Given the description of an element on the screen output the (x, y) to click on. 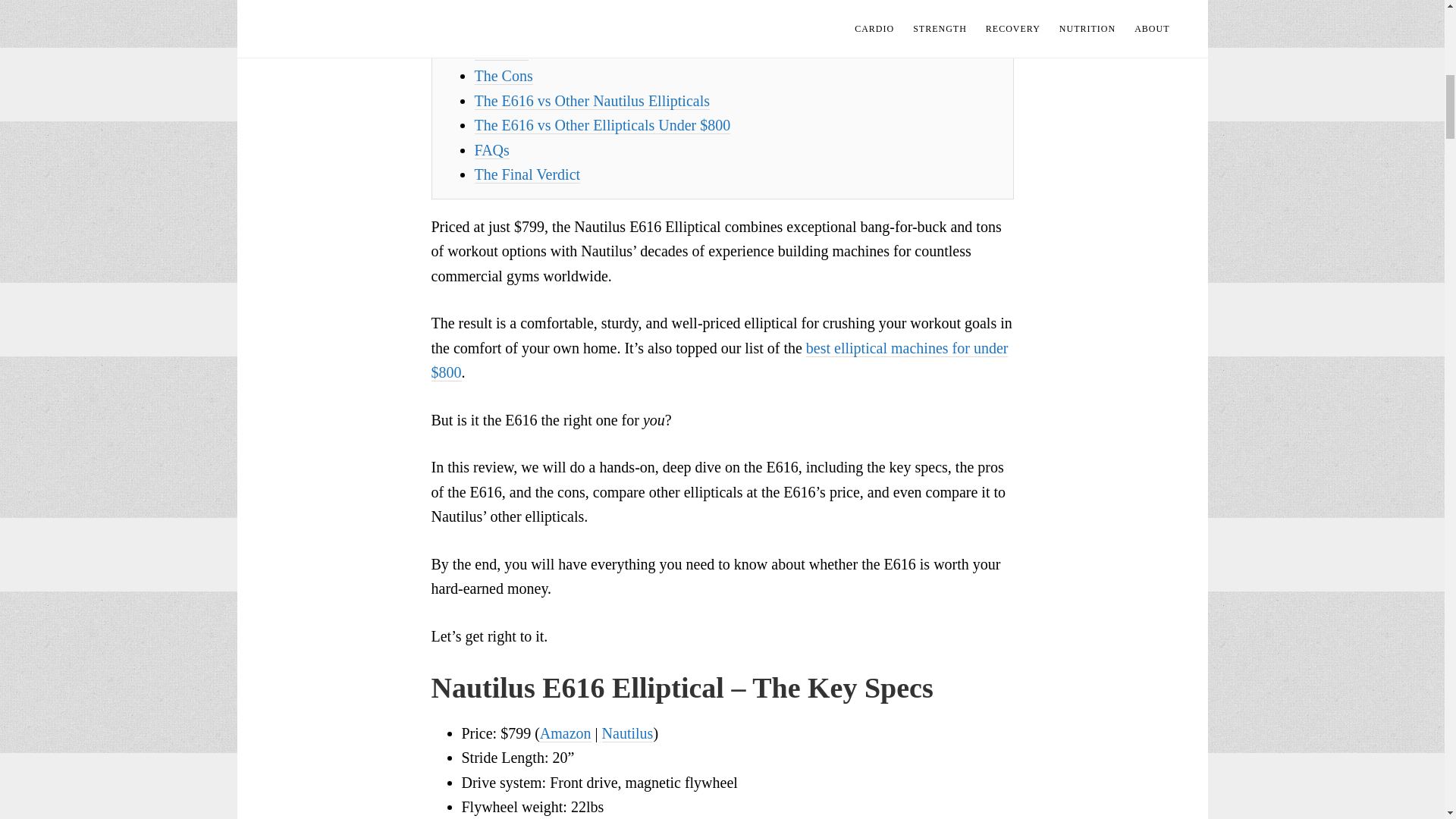
The E616 vs Other Nautilus Ellipticals (592, 100)
The Cons (503, 76)
FAQs (491, 149)
The Pros (501, 51)
The Final Verdict (527, 174)
The Key Specs (520, 27)
